Given the description of an element on the screen output the (x, y) to click on. 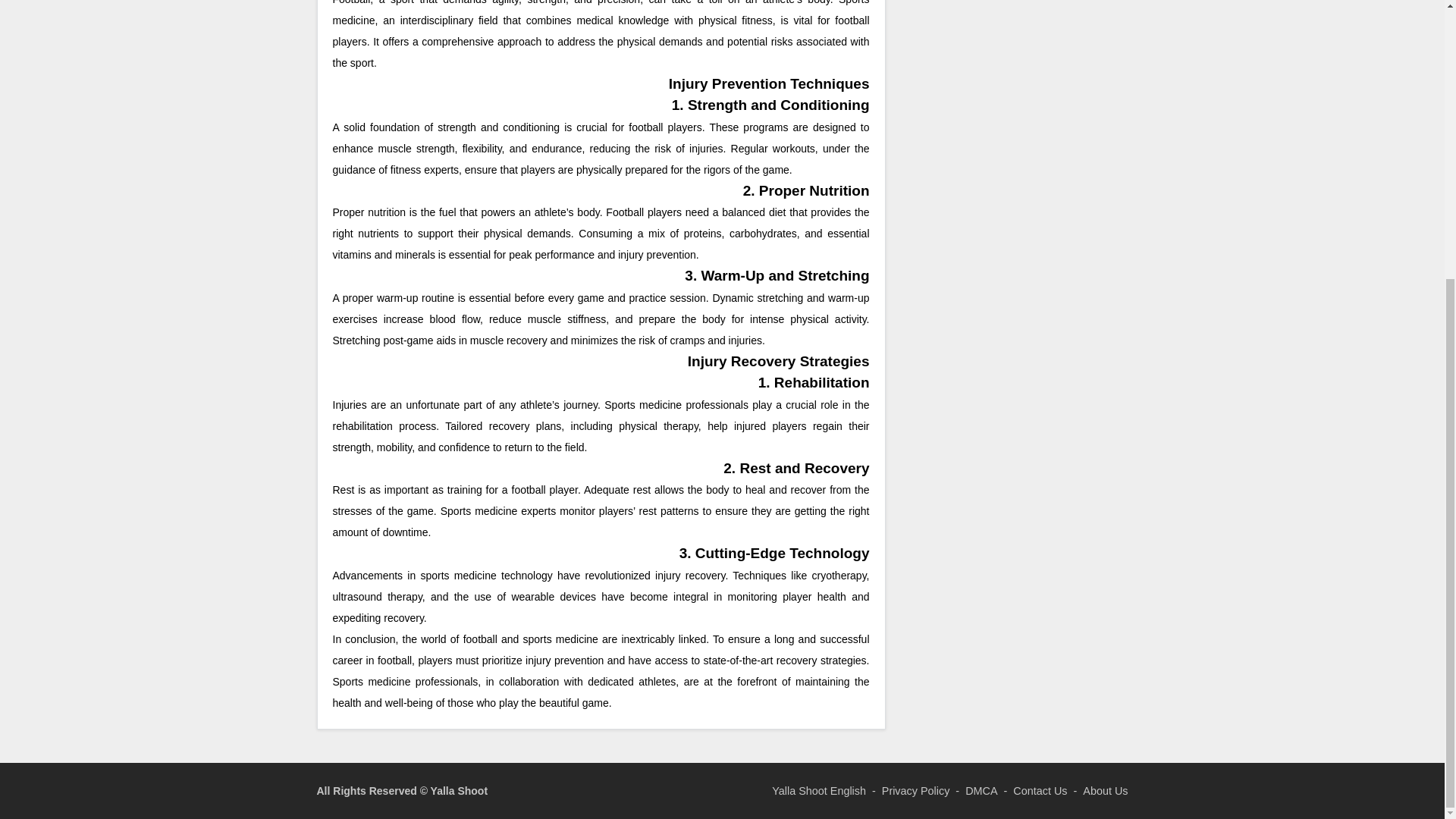
Yalla Shoot English (818, 790)
Privacy Policy (916, 790)
About Us (1104, 790)
About Us (1104, 790)
Yalla Shoot English (818, 790)
DMCA (981, 790)
DMCA (981, 790)
Privacy Policy (916, 790)
Contact Us (1040, 790)
Contact Us (1040, 790)
